Given the description of an element on the screen output the (x, y) to click on. 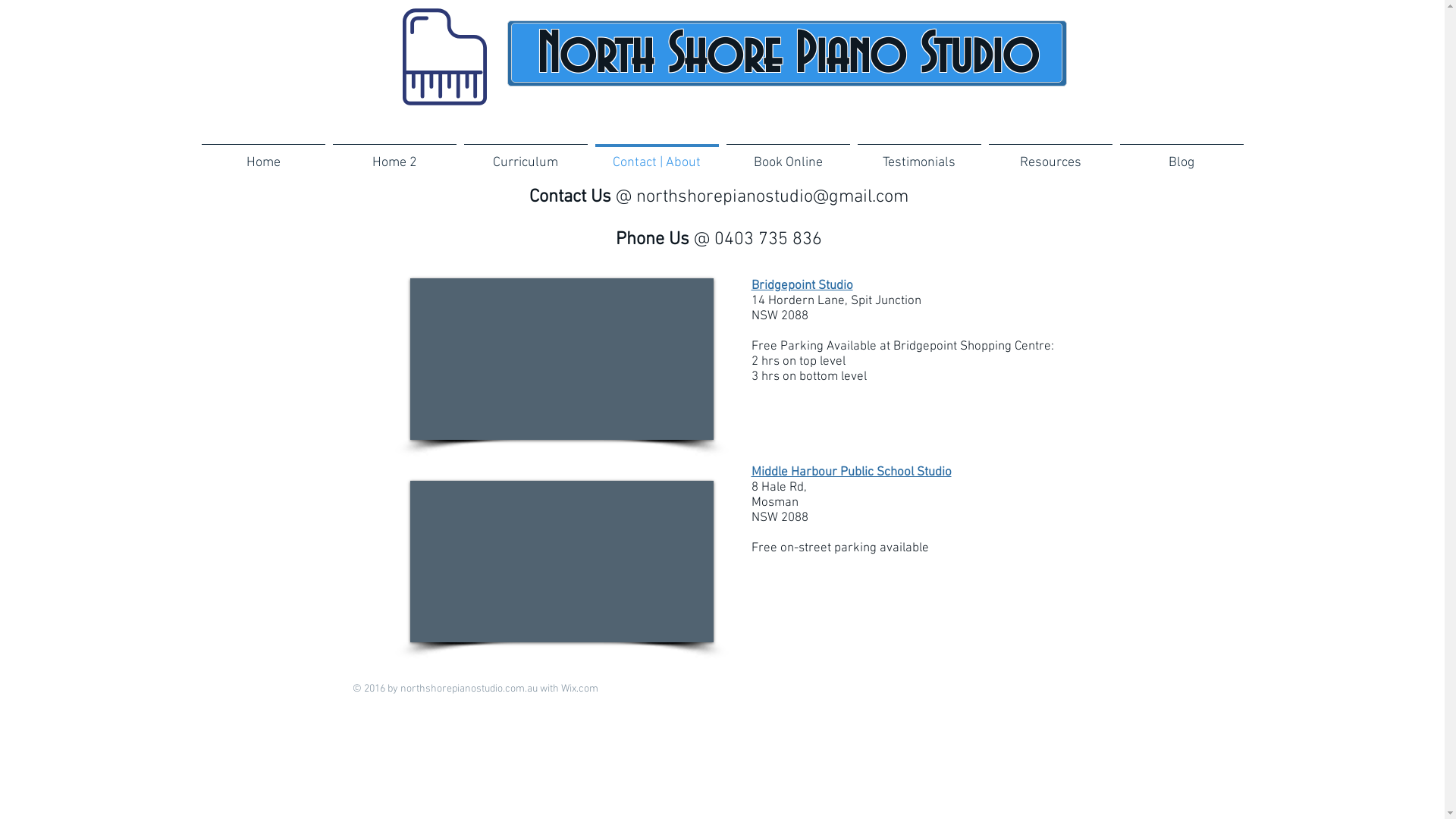
Home 2 Element type: text (394, 155)
Google Maps Element type: hover (560, 358)
Contact | About Element type: text (656, 155)
Google Maps Element type: hover (560, 561)
northshorepianostudio@gmail.com Element type: text (771, 196)
Home Element type: text (262, 155)
Testimonials Element type: text (919, 155)
Blog Element type: text (1181, 155)
North Shore Piano Studio Element type: text (787, 56)
Curriculum Element type: text (524, 155)
Wix.com Element type: text (579, 688)
Book Online Element type: text (787, 155)
